Given the description of an element on the screen output the (x, y) to click on. 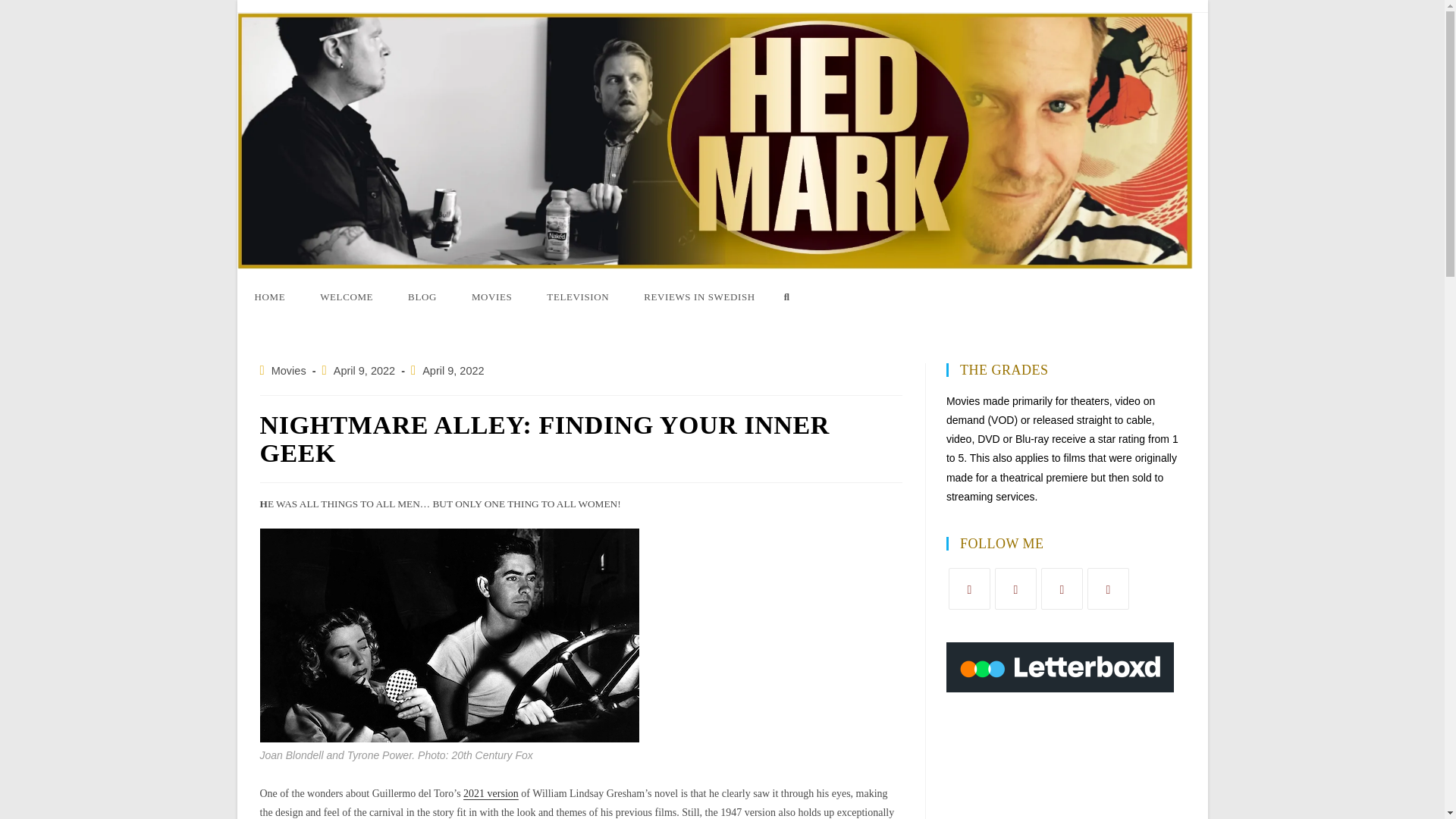
WELCOME (346, 297)
TELEVISION (577, 297)
MOVIES (491, 297)
REVIEWS IN SWEDISH (699, 297)
BLOG (422, 297)
HOME (268, 297)
